Given the description of an element on the screen output the (x, y) to click on. 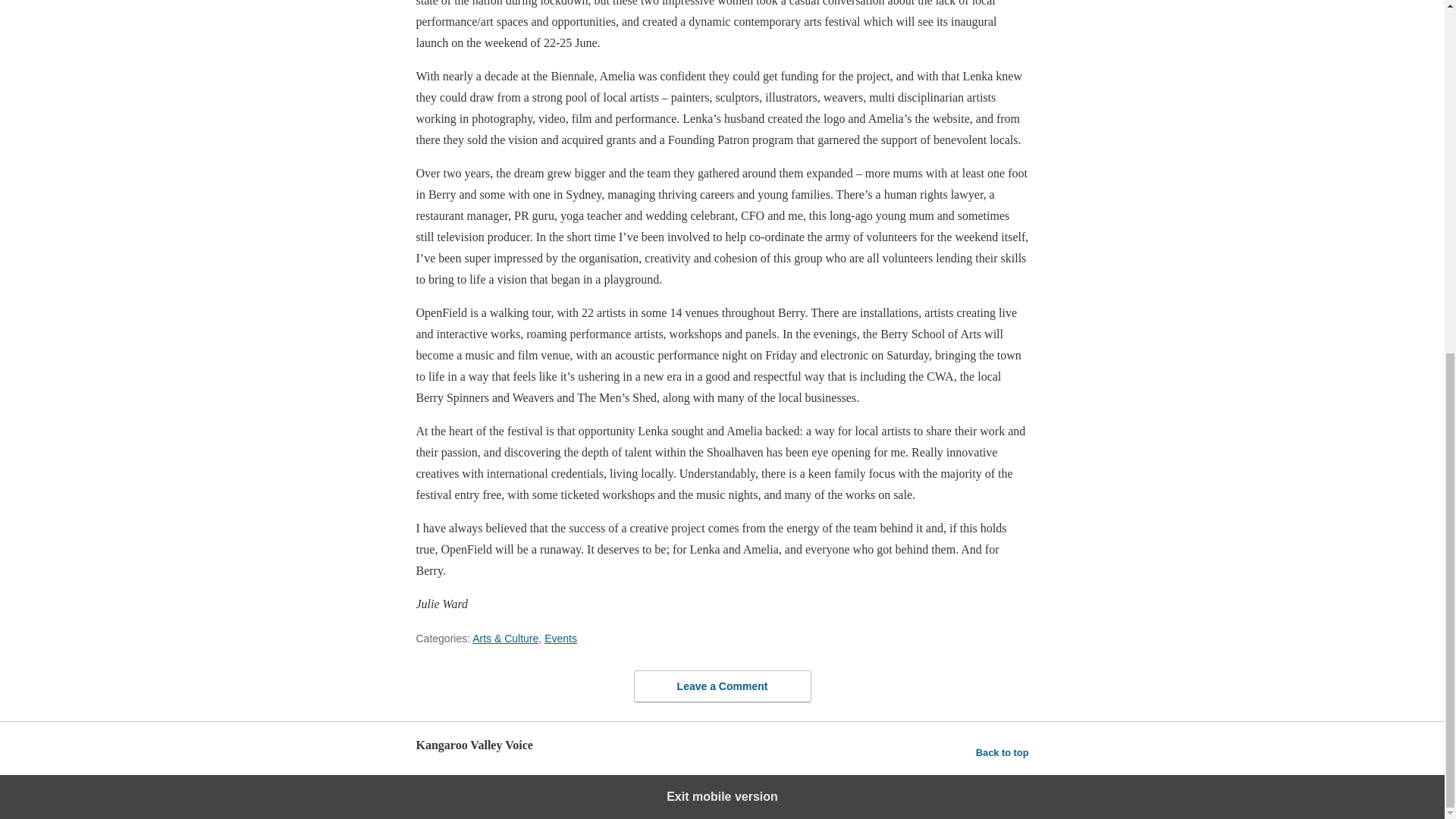
Leave a Comment (721, 686)
Events (560, 638)
Back to top (1002, 752)
